Given the description of an element on the screen output the (x, y) to click on. 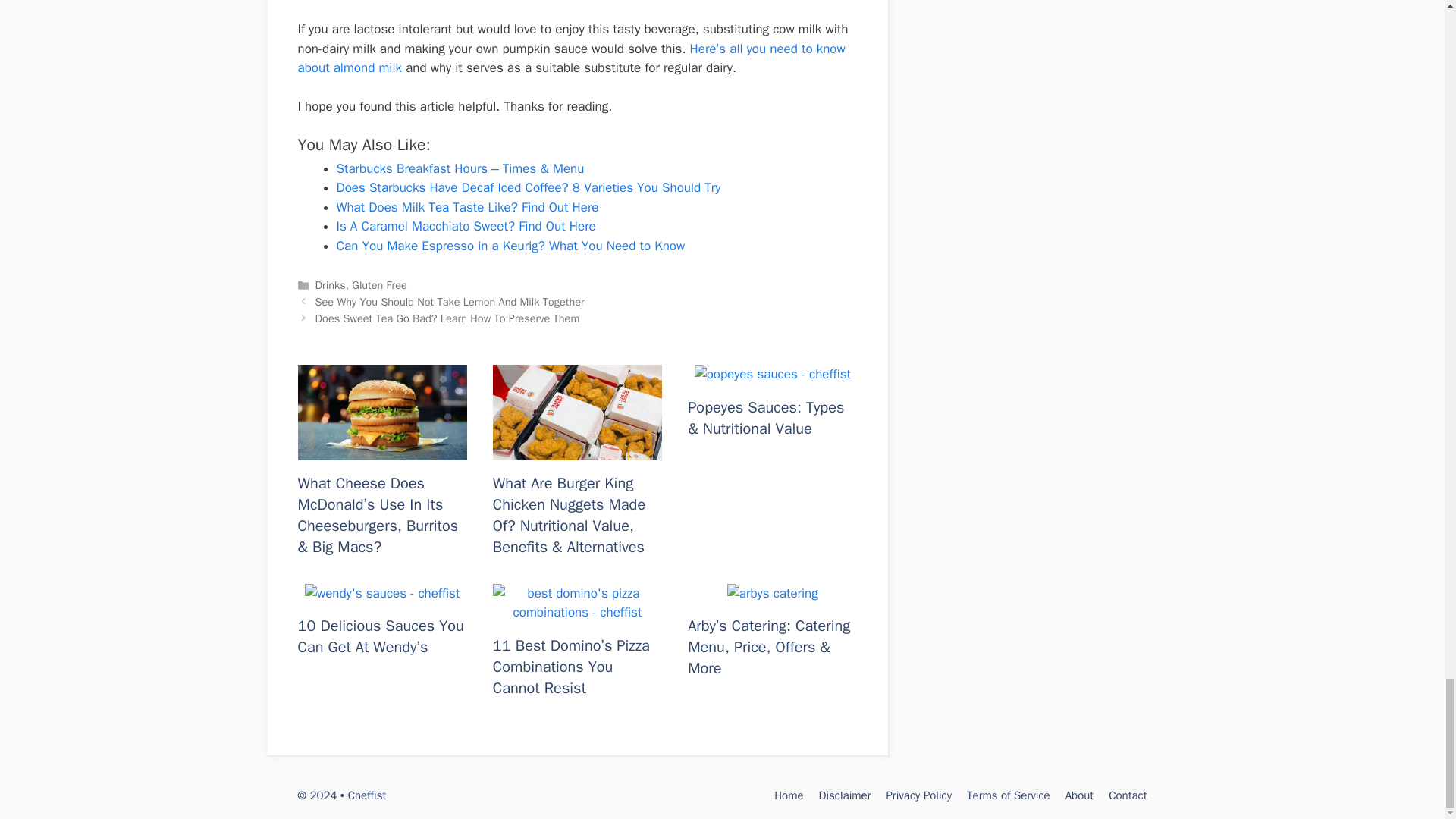
Can You Make Espresso in a Keurig? What You Need to Know (510, 245)
Is A Caramel Macchiato Sweet? Find Out Here (465, 226)
What Does Milk Tea Taste Like? Find Out Here (467, 207)
Gluten Free (379, 284)
Can You Make Espresso in a Keurig? What You Need to Know (510, 245)
Does Sweet Tea Go Bad? Learn How To Preserve Them (447, 318)
Drinks (330, 284)
What Does Milk Tea Taste Like? Find Out Here (467, 207)
Is A Caramel Macchiato Sweet? Find Out Here (465, 226)
See Why You Should Not Take Lemon And Milk Together (450, 301)
